Given the description of an element on the screen output the (x, y) to click on. 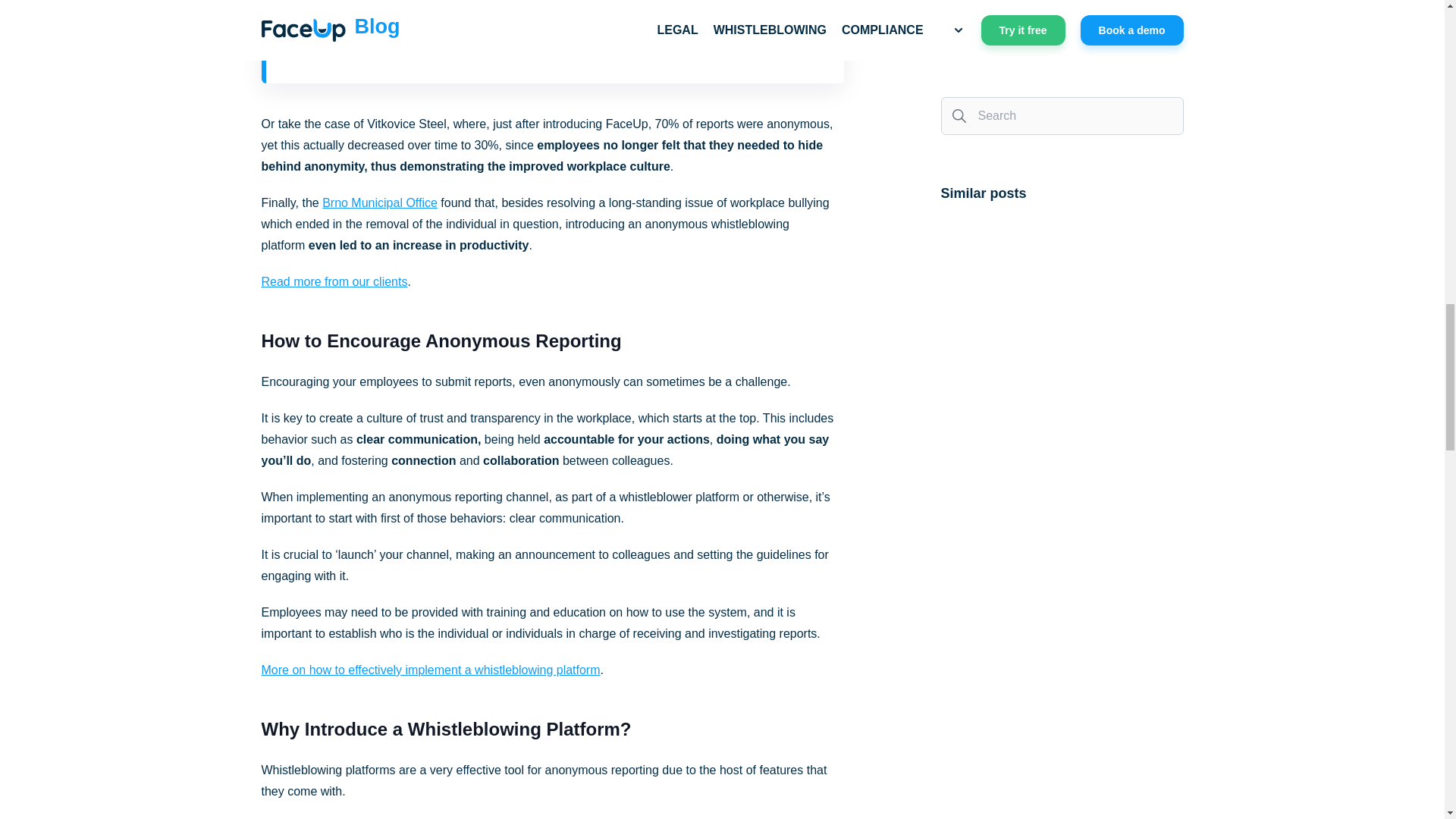
Read more from our clients (333, 281)
Brno Municipal Office (379, 202)
Whistleblowing Platform (513, 729)
